Given the description of an element on the screen output the (x, y) to click on. 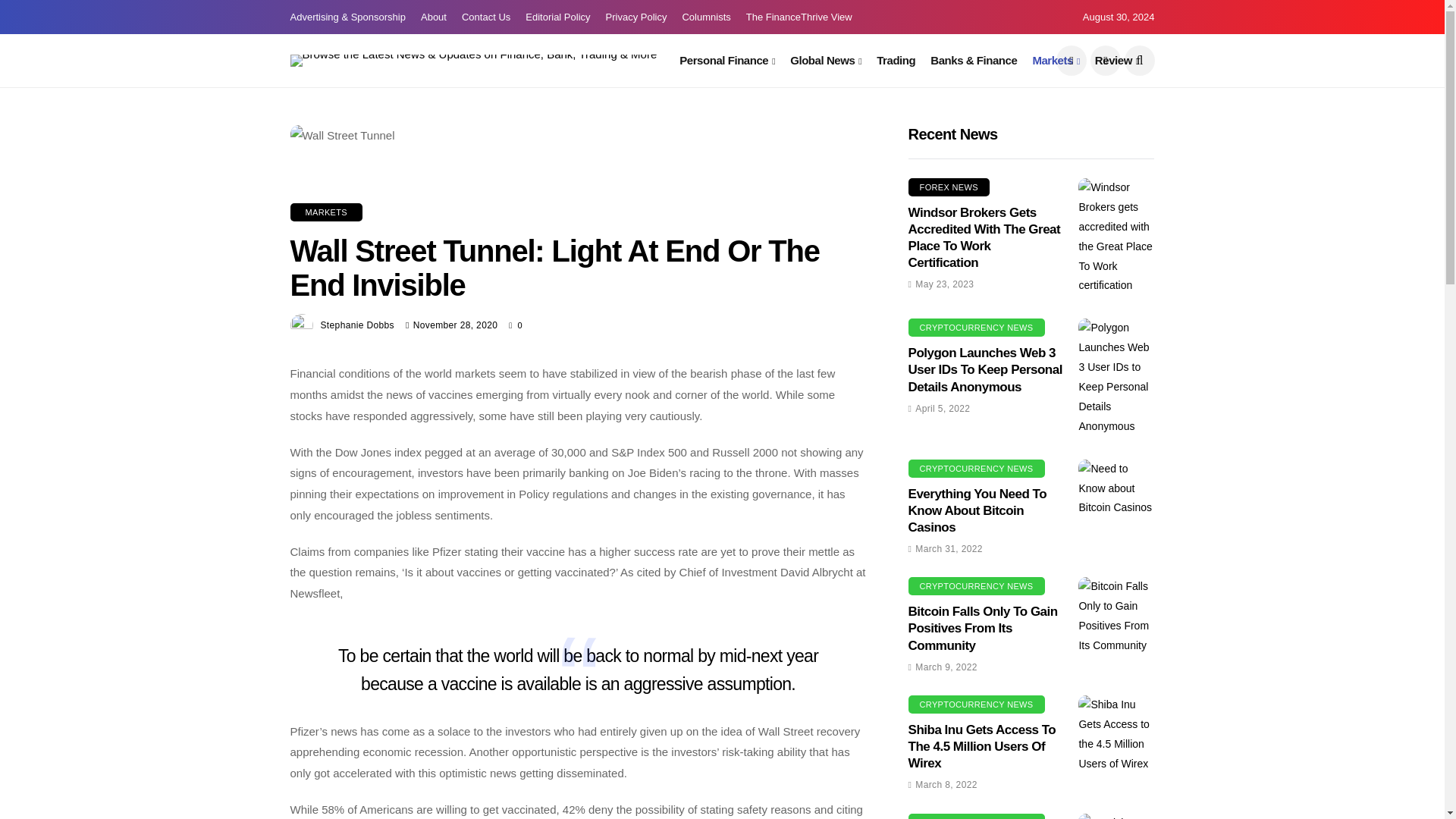
MARKETS (325, 212)
Bitcoin Falls Only to Gain Positives From Its Community (1116, 616)
The FinanceThrive View (798, 17)
Shiba Inu Gets Access to the 4.5 Million Users of Wirex (1116, 734)
Privacy Policy (635, 17)
Personal Finance (726, 60)
Like (516, 324)
Stephanie Dobbs (356, 325)
Posts by Stephanie Dobbs (356, 325)
Editorial Policy (557, 17)
